Given the description of an element on the screen output the (x, y) to click on. 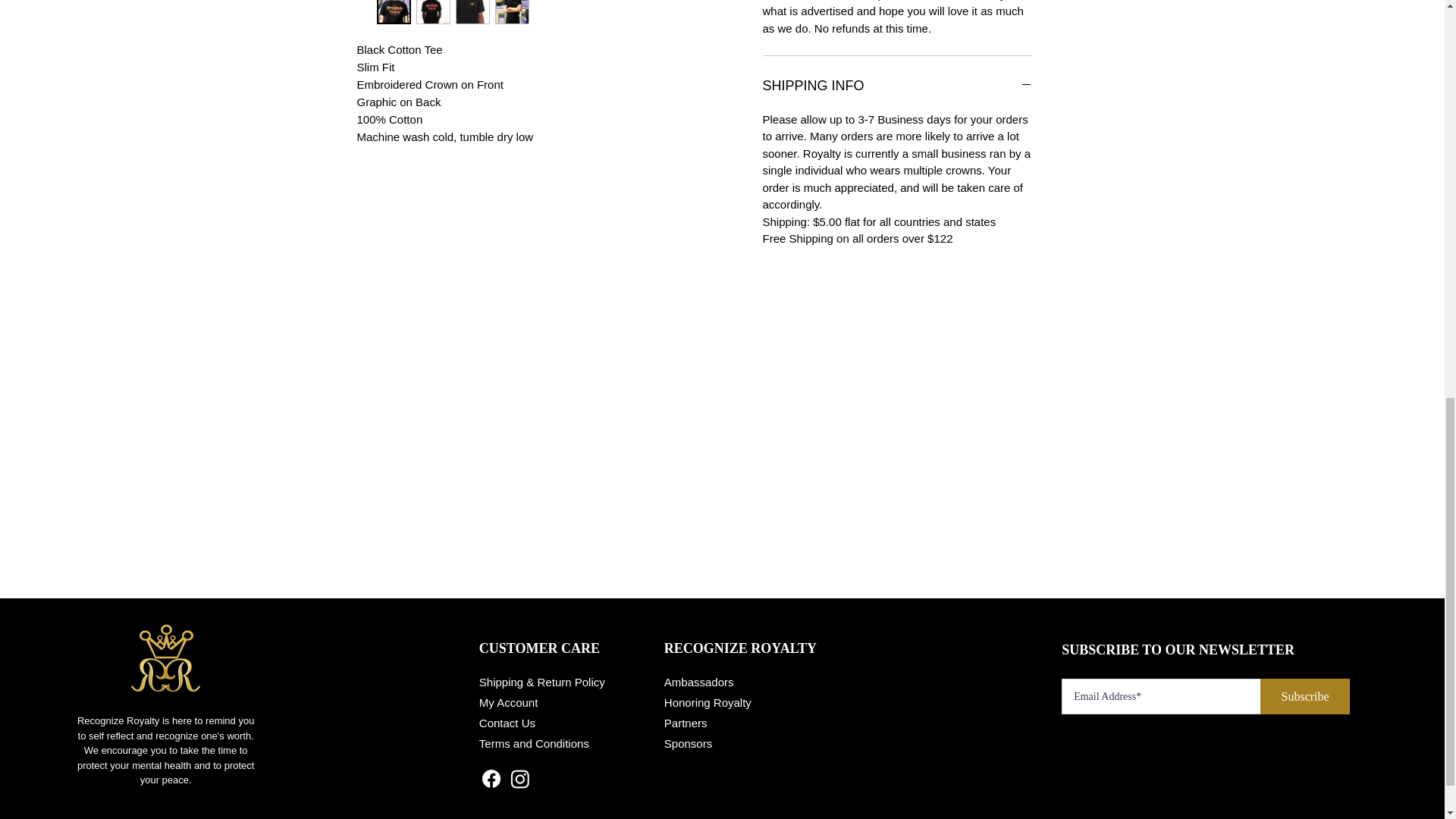
Subscribe (1304, 696)
Contact Us (507, 722)
My Account (508, 702)
Honoring Royalty (707, 702)
Terms and Conditions (534, 743)
Sponsors (687, 743)
Ambassadors (698, 681)
SHIPPING INFO (897, 86)
Partners (685, 722)
